Given the description of an element on the screen output the (x, y) to click on. 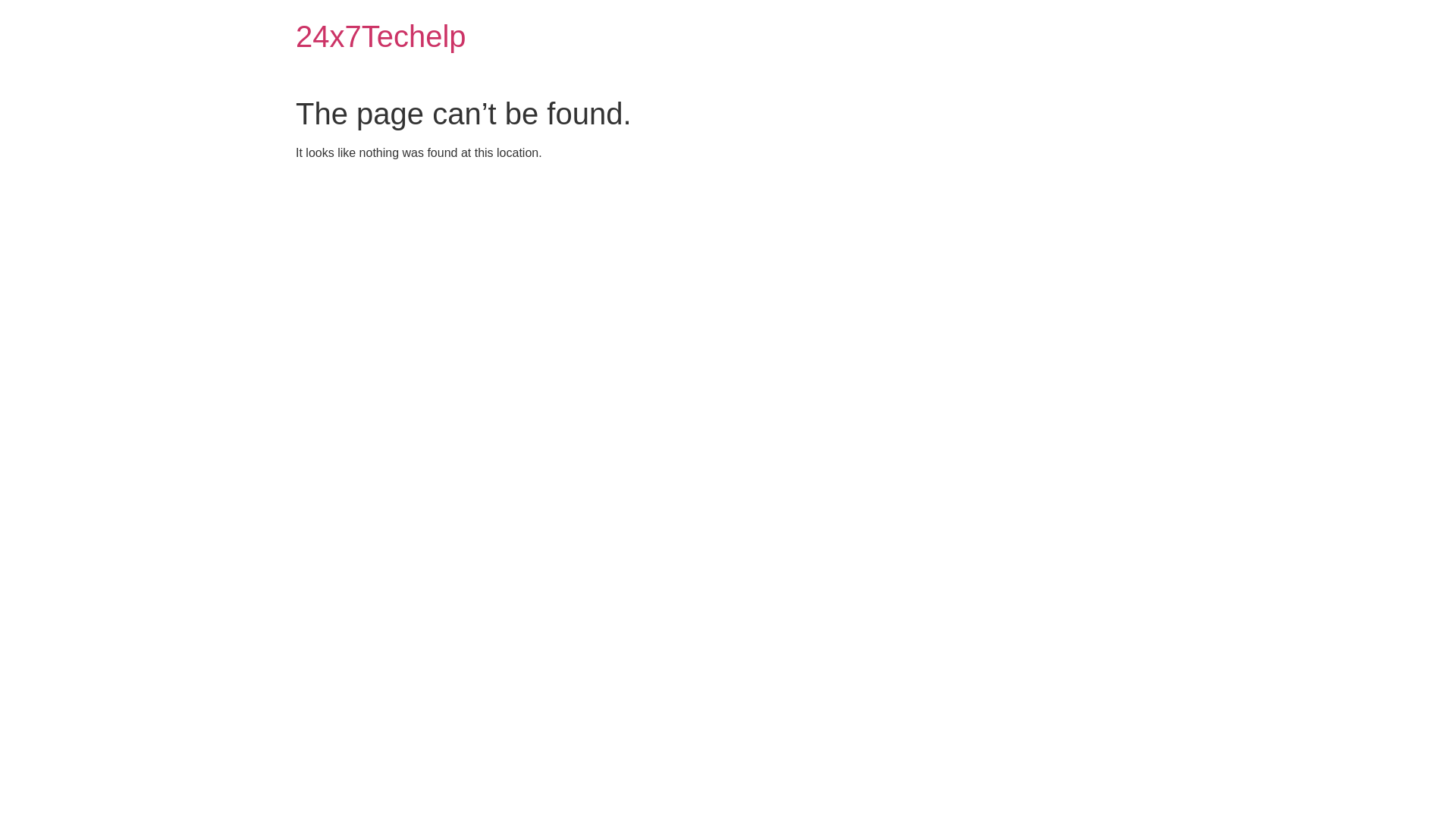
24x7Techelp Element type: text (380, 36)
